Given the description of an element on the screen output the (x, y) to click on. 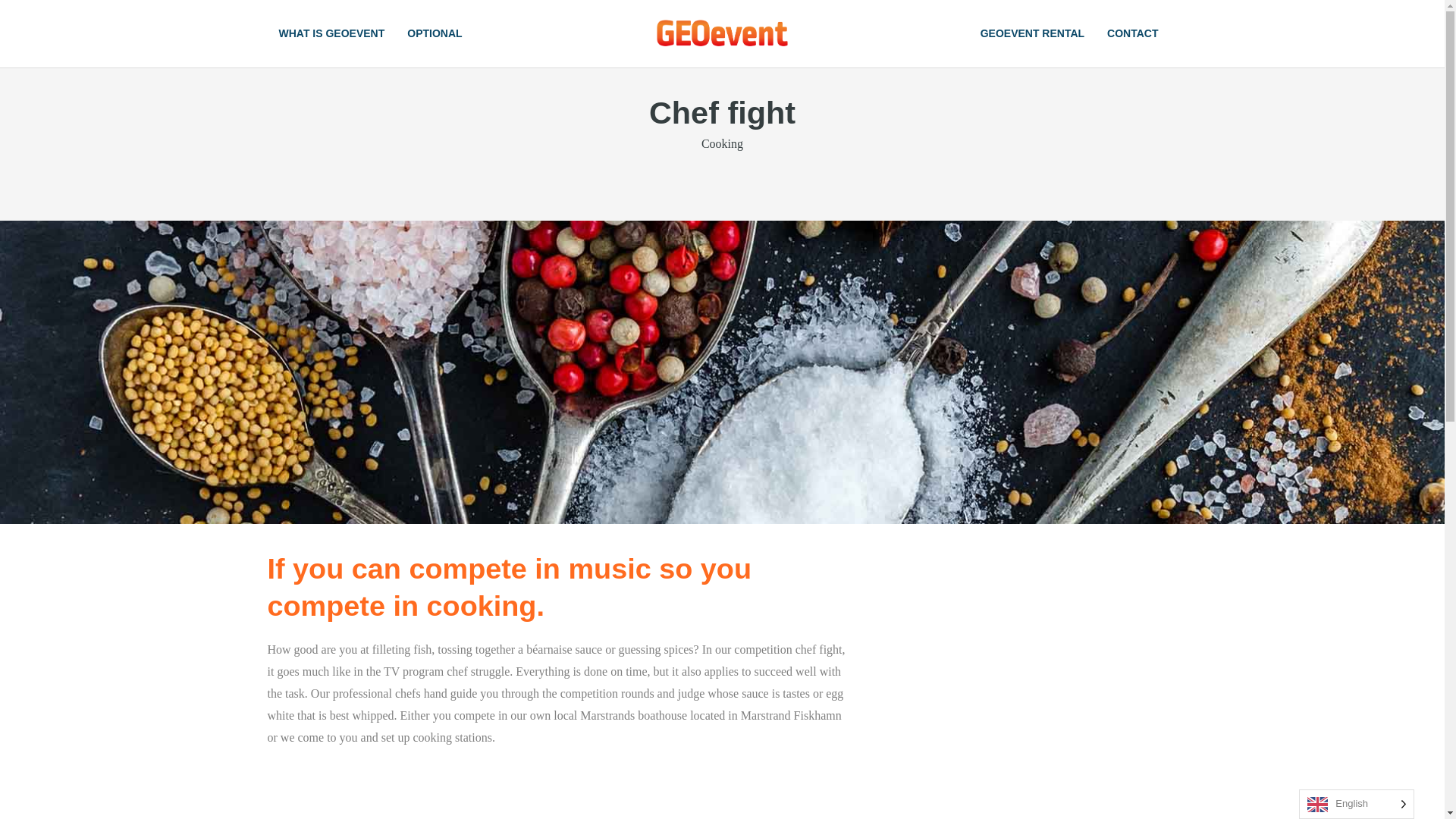
CONTACT (1132, 33)
WHAT IS GEOEVENT (331, 33)
OPTIONAL (434, 33)
GEOEVENT RENTAL (1032, 33)
